Given the description of an element on the screen output the (x, y) to click on. 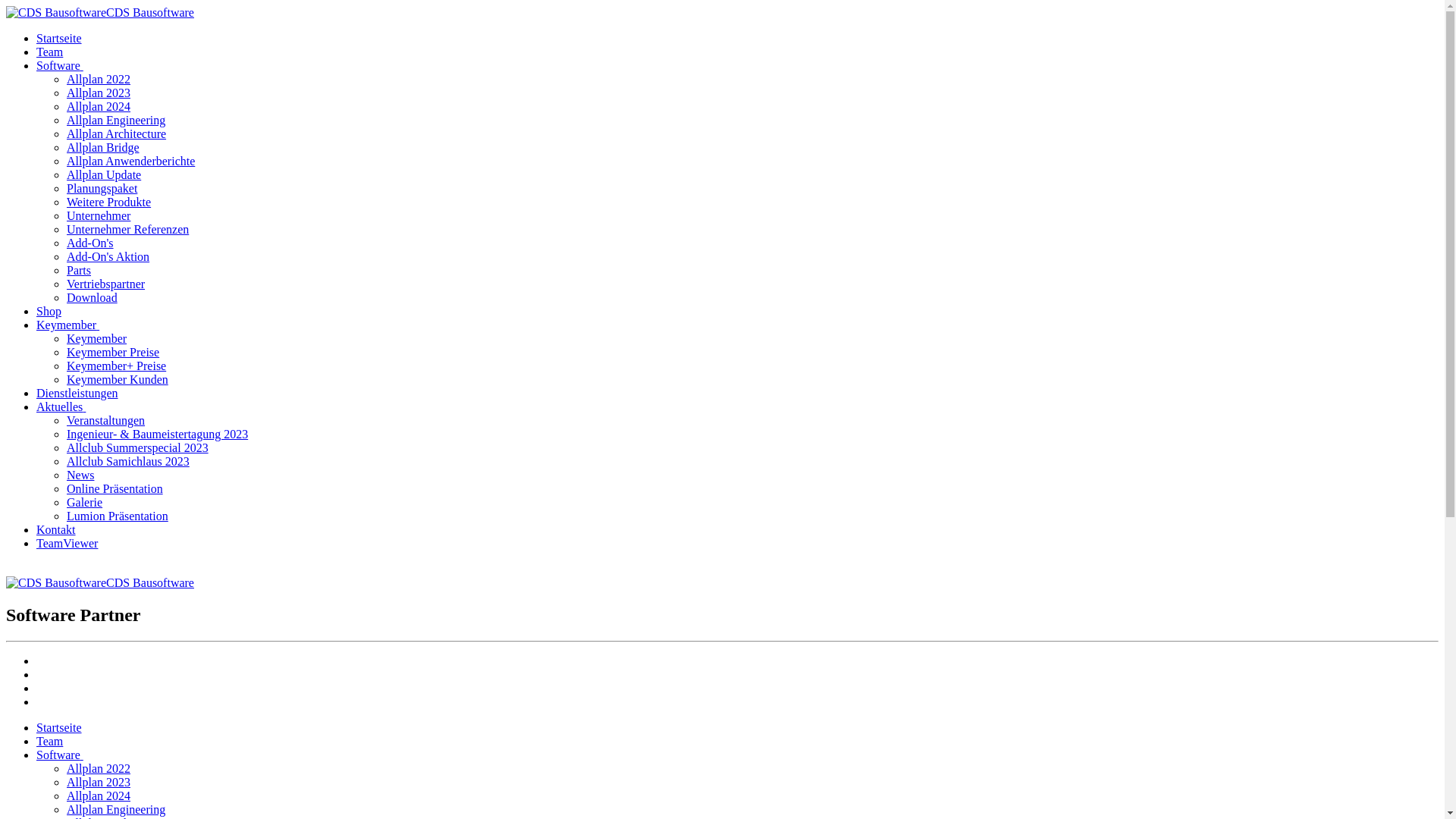
  Element type: text (37, 687)
Keymember   Element type: text (69, 324)
Software   Element type: text (61, 65)
Allplan 2022 Element type: text (98, 78)
Kontakt Element type: text (55, 529)
Keymember+ Preise Element type: text (116, 365)
Allplan 2023 Element type: text (98, 781)
Aktuelles   Element type: text (62, 406)
Allplan Bridge Element type: text (102, 147)
Vertriebspartner Element type: text (105, 283)
Galerie Element type: text (84, 501)
  Element type: text (37, 660)
Add-On's Aktion Element type: text (107, 256)
Allplan 2024 Element type: text (98, 106)
Allplan Engineering Element type: text (115, 119)
CDS Bausoftware Element type: text (100, 12)
Keymember Preise Element type: text (112, 351)
Shop Element type: text (48, 310)
Allplan Update Element type: text (103, 174)
Veranstaltungen Element type: text (105, 420)
Unternehmer Referenzen Element type: text (127, 228)
Allplan Architecture Element type: text (116, 133)
Allplan 2023 Element type: text (98, 92)
Allclub Samichlaus 2023 Element type: text (127, 461)
Team Element type: text (49, 51)
Software   Element type: text (61, 754)
  Element type: text (37, 674)
News Element type: text (80, 474)
Allplan 2024 Element type: text (98, 795)
Ingenieur- & Baumeistertagung 2023 Element type: text (156, 433)
Startseite Element type: text (58, 37)
Allplan Engineering Element type: text (115, 809)
  Element type: text (7, 568)
  Element type: text (37, 701)
Keymember Kunden Element type: text (117, 379)
Team Element type: text (49, 740)
Allplan Anwenderberichte Element type: text (130, 160)
TeamViewer Element type: text (66, 542)
Allclub Summerspecial 2023 Element type: text (137, 447)
Allplan 2022 Element type: text (98, 768)
Weitere Produkte Element type: text (108, 201)
Download Element type: text (91, 297)
Add-On's Element type: text (89, 242)
Keymember Element type: text (96, 338)
Planungspaket Element type: text (101, 188)
Startseite Element type: text (58, 727)
Parts Element type: text (78, 269)
Unternehmer Element type: text (98, 215)
CDS Bausoftware Element type: text (100, 582)
Dienstleistungen Element type: text (77, 392)
